Given the description of an element on the screen output the (x, y) to click on. 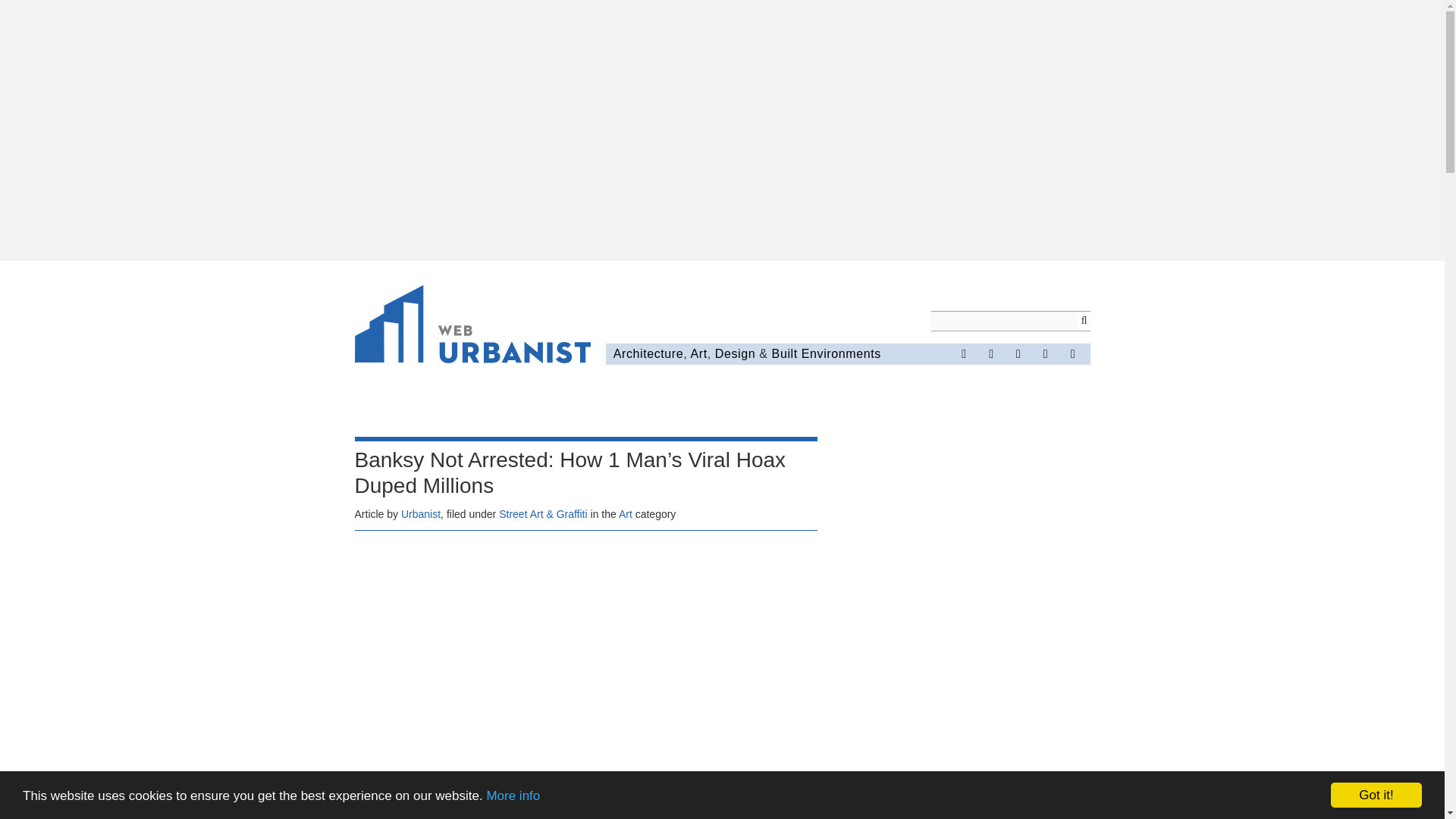
WebUrbanist (473, 326)
Become a Fan on Facebook! (963, 353)
Check Out Posts on Pinterest! (1018, 353)
Advertisement (585, 653)
Subscribe by Email (1072, 353)
Architecture (648, 353)
Environments (841, 353)
Urbanist (421, 513)
Follow Us on Twitter! (990, 353)
Art (698, 353)
Built (784, 353)
Design (734, 353)
Art (624, 513)
Subscribe to the RSS Feed! (1045, 353)
